Given the description of an element on the screen output the (x, y) to click on. 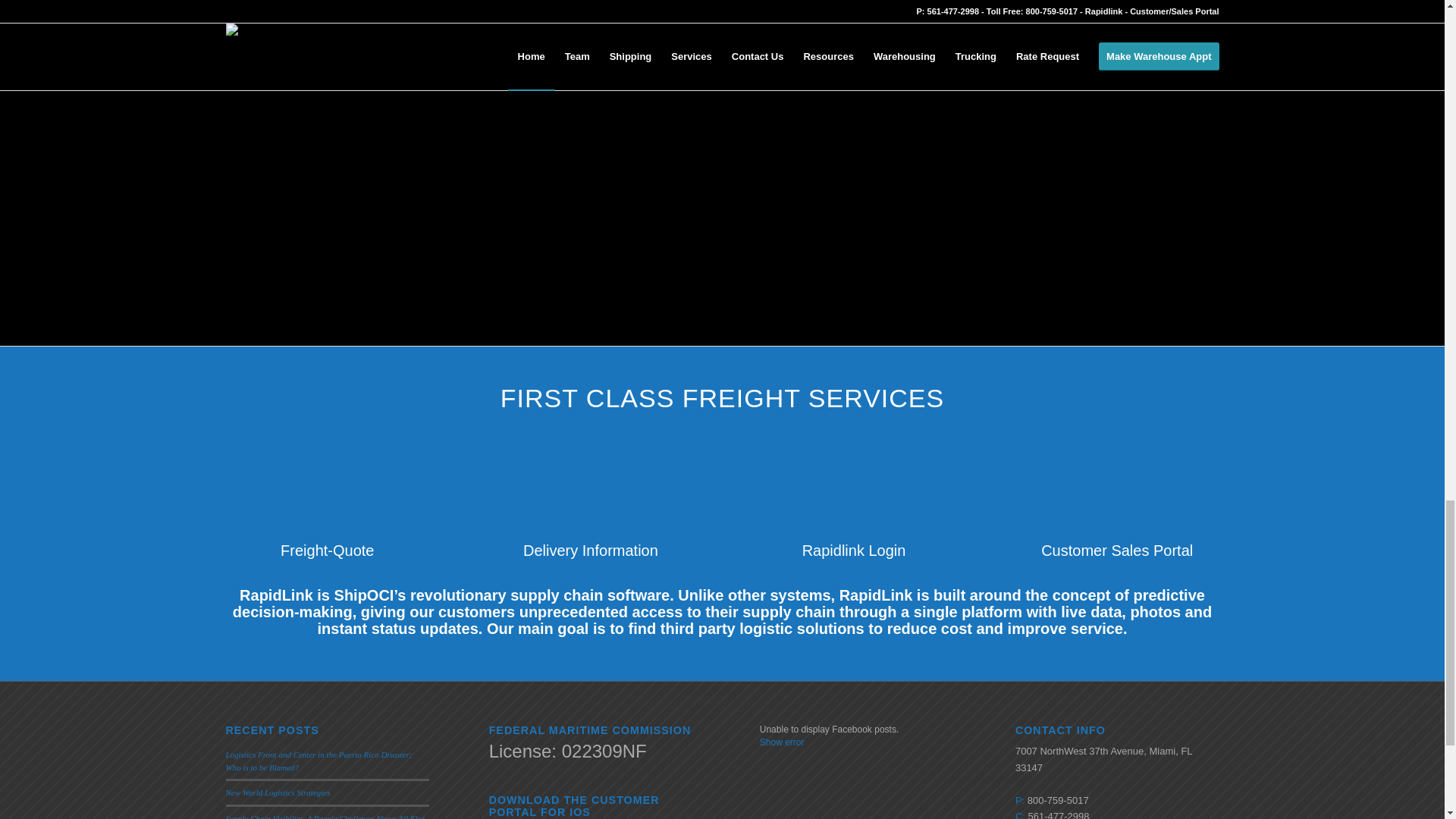
Supply Chain Visibility: A People Challenge Above All Else (325, 816)
New World Logistics Strategies (277, 791)
